Given the description of an element on the screen output the (x, y) to click on. 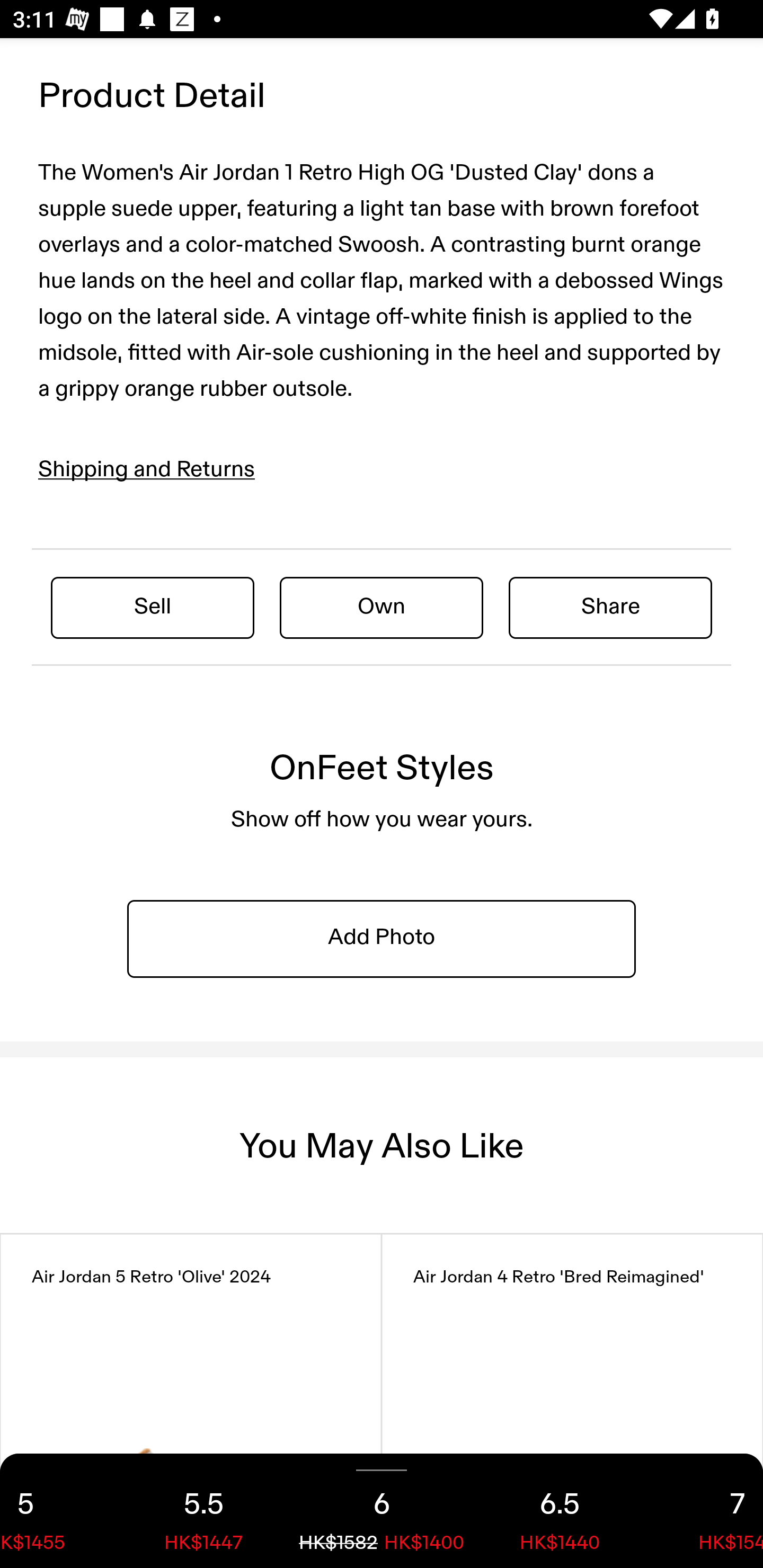
Shipping and Returns (146, 469)
Sell (152, 606)
Own (381, 606)
Share (609, 606)
Add Photo (381, 938)
Air Jordan 5 Retro 'Olive' 2024 (190, 1401)
Air Jordan 4 Retro 'Bred Reimagined' (572, 1401)
5 HK$1455 (57, 1510)
5.5 HK$1447 (203, 1510)
6 HK$1582 HK$1400 (381, 1510)
6.5 HK$1440 (559, 1510)
7 HK$1542 (705, 1510)
